Given the description of an element on the screen output the (x, y) to click on. 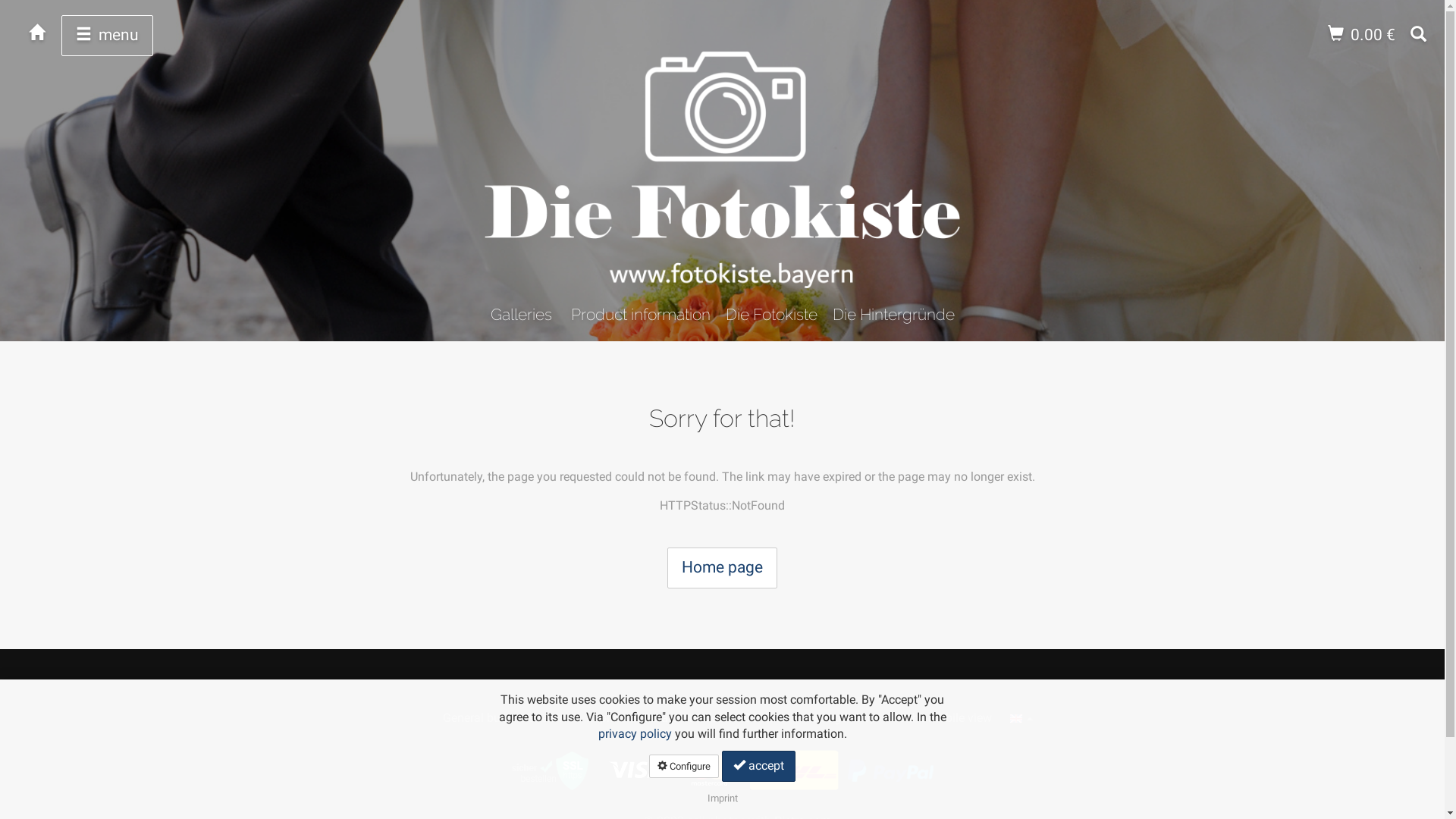
accept Element type: text (758, 765)
menu Element type: text (107, 35)
Manage shop Element type: text (838, 717)
Home page Element type: text (722, 567)
privacy policy Element type: text (634, 733)
Imprint Element type: text (721, 797)
Die Fotokiste Element type: text (770, 313)
Imprint Element type: text (604, 717)
Galleries Element type: text (520, 313)
to the mobile view Element type: text (942, 717)
Product information Element type: text (639, 313)
General business terms Element type: text (504, 717)
Data protection Element type: text (682, 717)
Configure Element type: text (683, 766)
Contact Element type: text (763, 717)
